Given the description of an element on the screen output the (x, y) to click on. 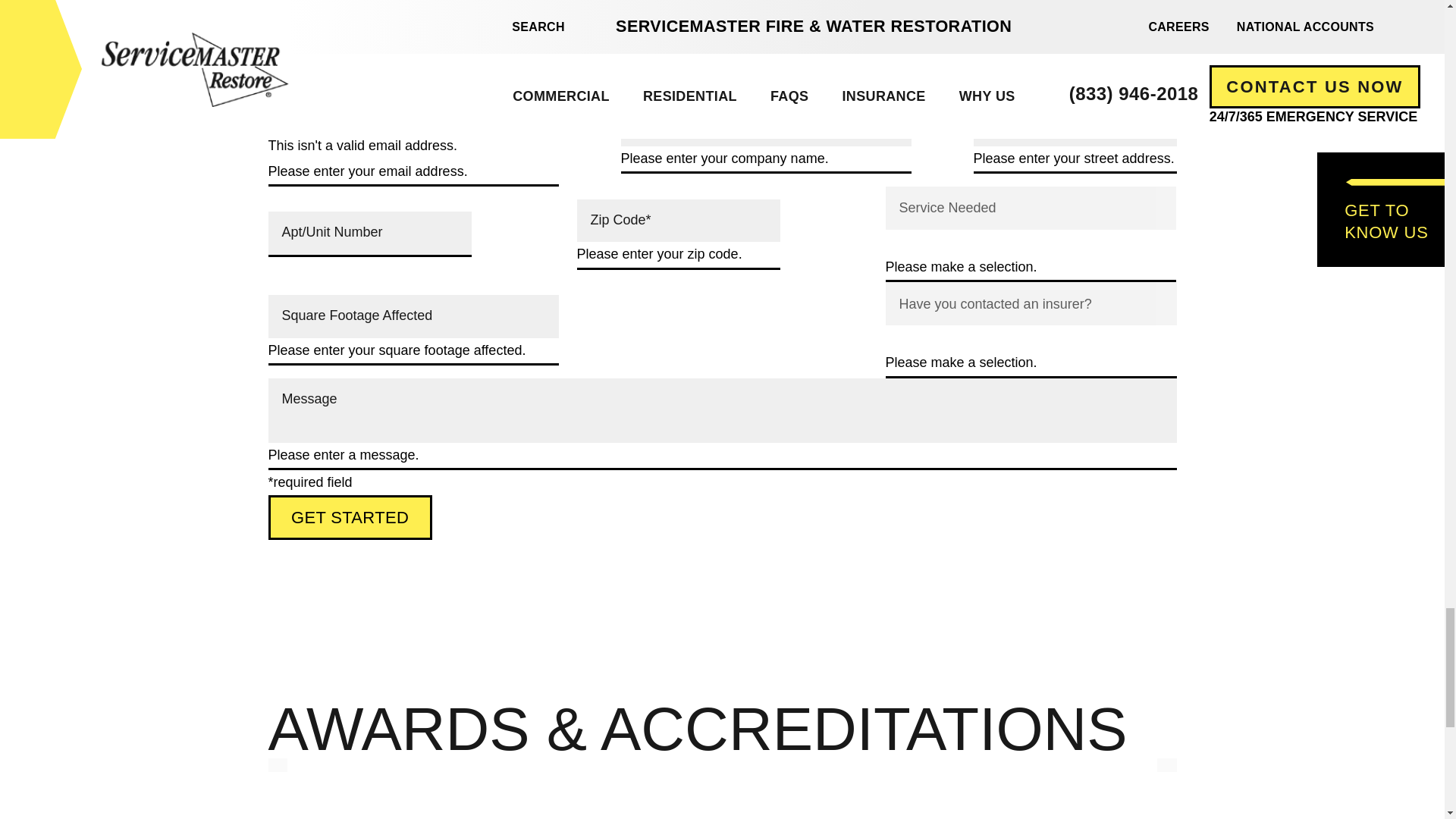
View next item (1166, 765)
View previous item (276, 765)
